Given the description of an element on the screen output the (x, y) to click on. 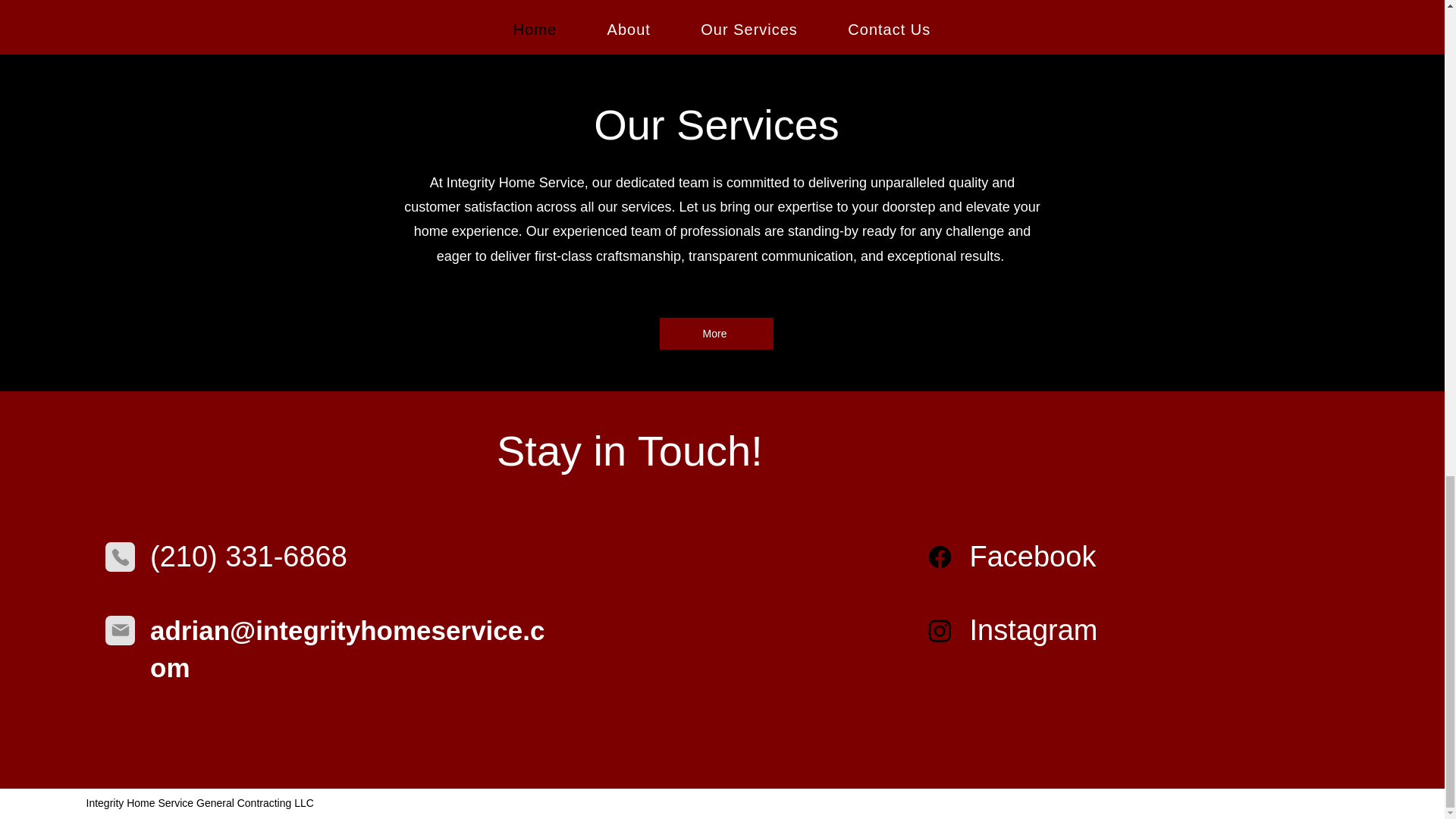
Instagram (1033, 630)
Facebook (1032, 556)
More (716, 333)
